Given the description of an element on the screen output the (x, y) to click on. 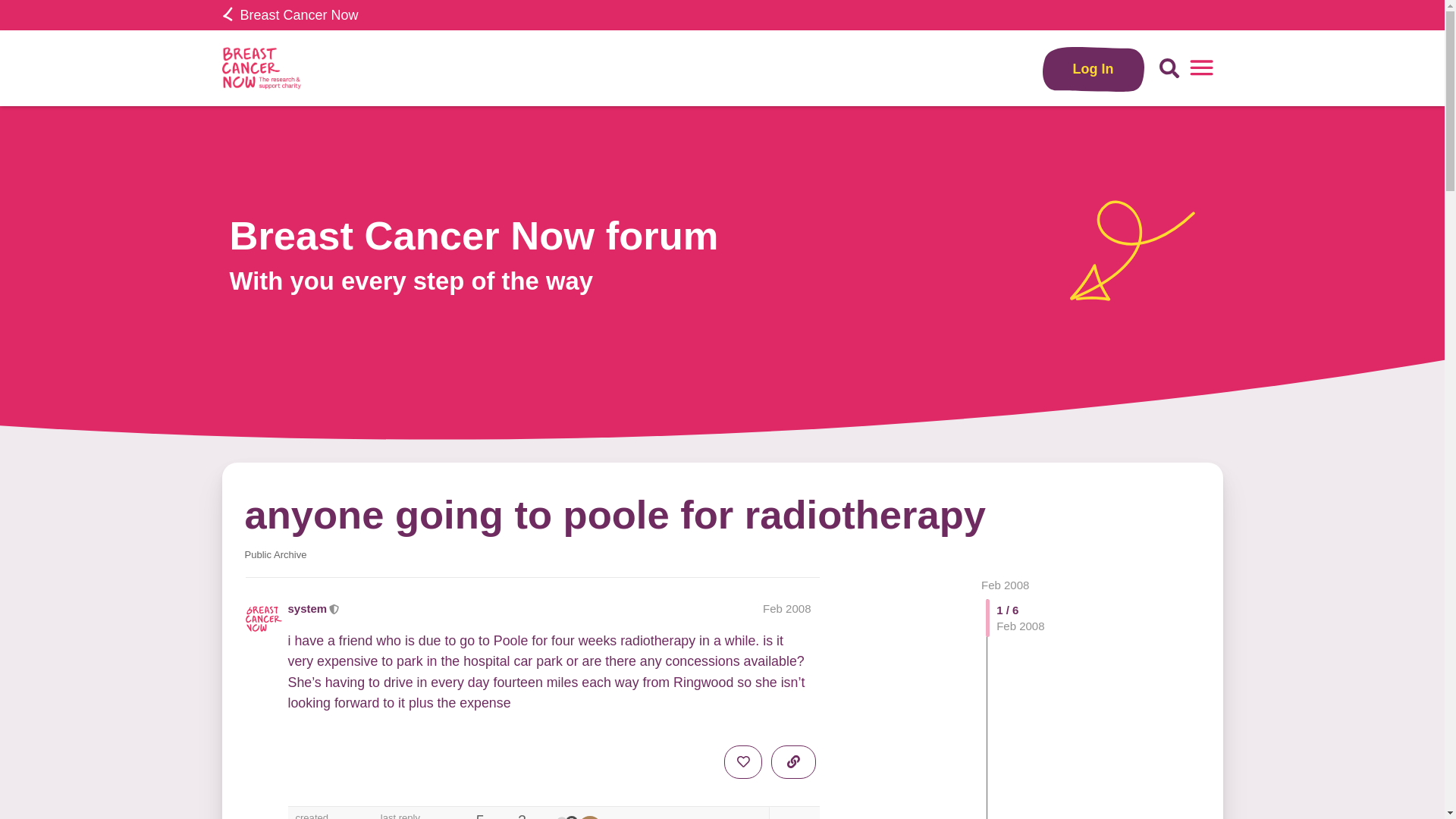
menu (1201, 67)
Public Archive (274, 554)
last reply (414, 816)
anyone going to poole for radiotherapy (614, 514)
expand topic details (793, 812)
Breast Cancer Now (289, 15)
Feb 2008 (1005, 584)
Feb 2008 (1005, 584)
system (560, 817)
Feb 2008 (786, 608)
system (562, 817)
Archived posts which are available to view. (274, 554)
5 (562, 817)
Post date (786, 608)
system (307, 608)
